Given the description of an element on the screen output the (x, y) to click on. 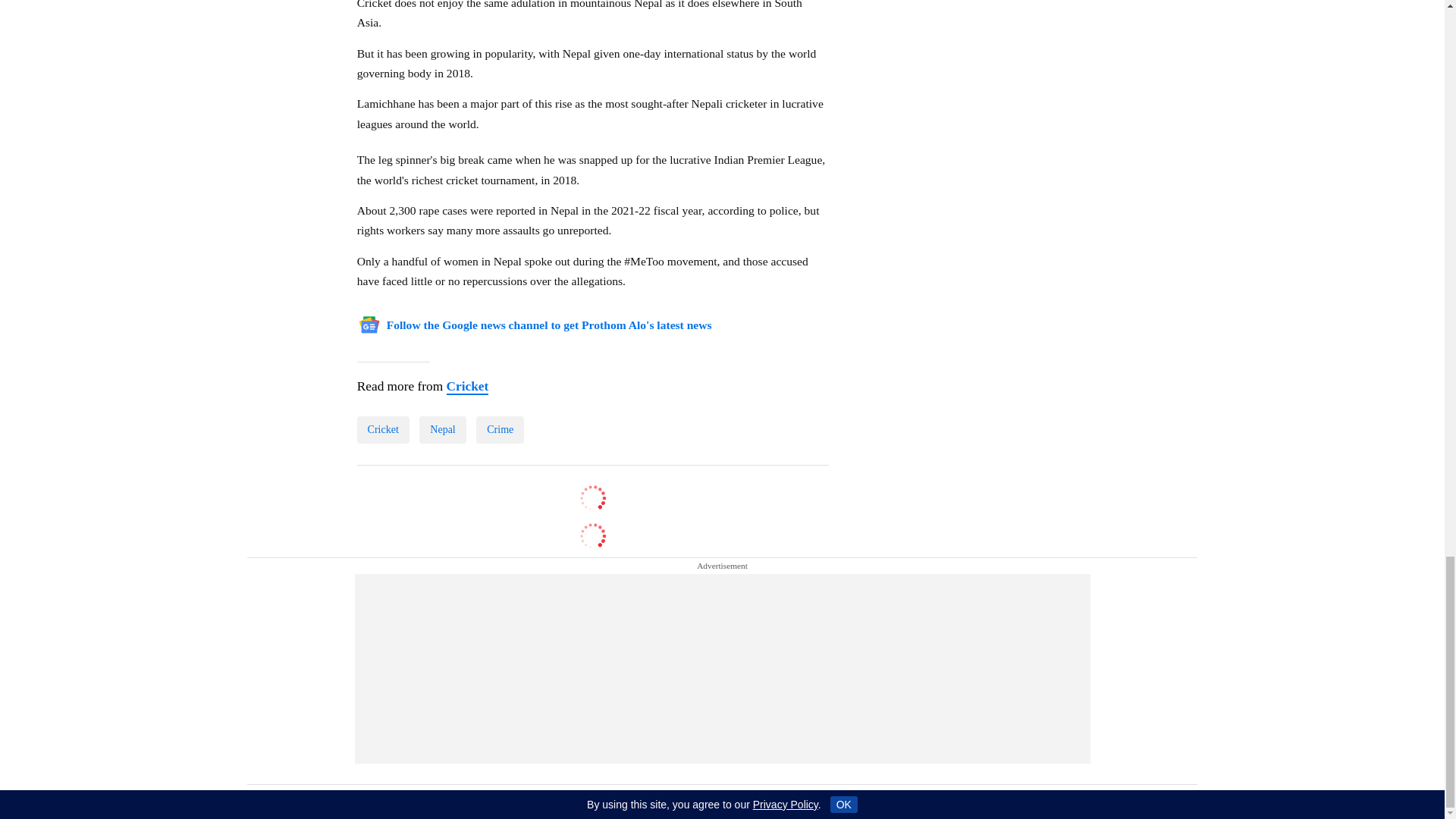
Cricket (382, 429)
Crime (500, 429)
Nepal (442, 429)
Cricket (466, 386)
